Given the description of an element on the screen output the (x, y) to click on. 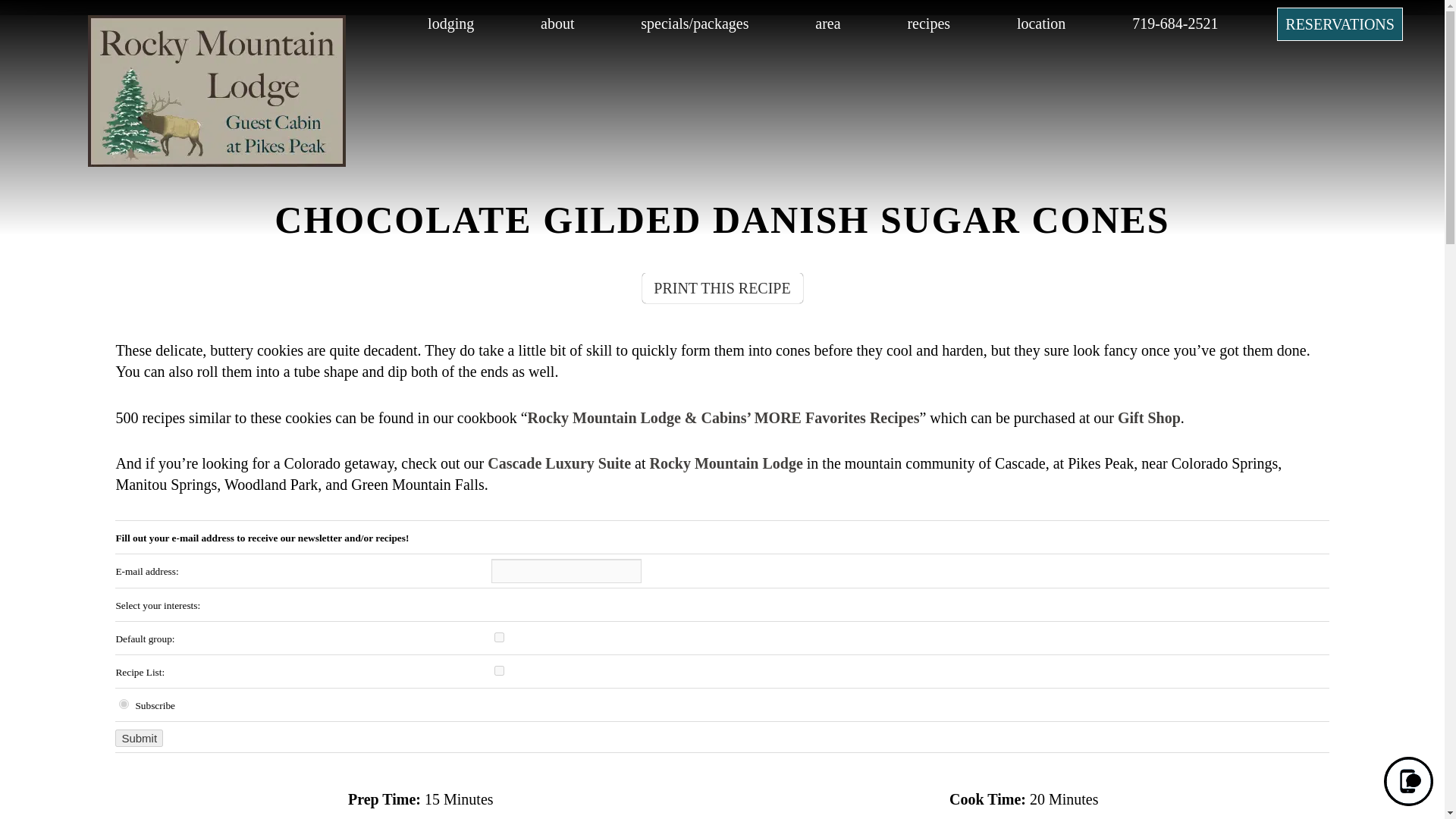
Submit (139, 737)
recipes (928, 24)
subscribe (124, 704)
719-684-2521 (1174, 24)
location (1040, 24)
1 (499, 670)
PRINT THIS RECIPE (722, 287)
logo (180, 24)
Rocky Mountain Lodge (216, 161)
1 (499, 637)
